Given the description of an element on the screen output the (x, y) to click on. 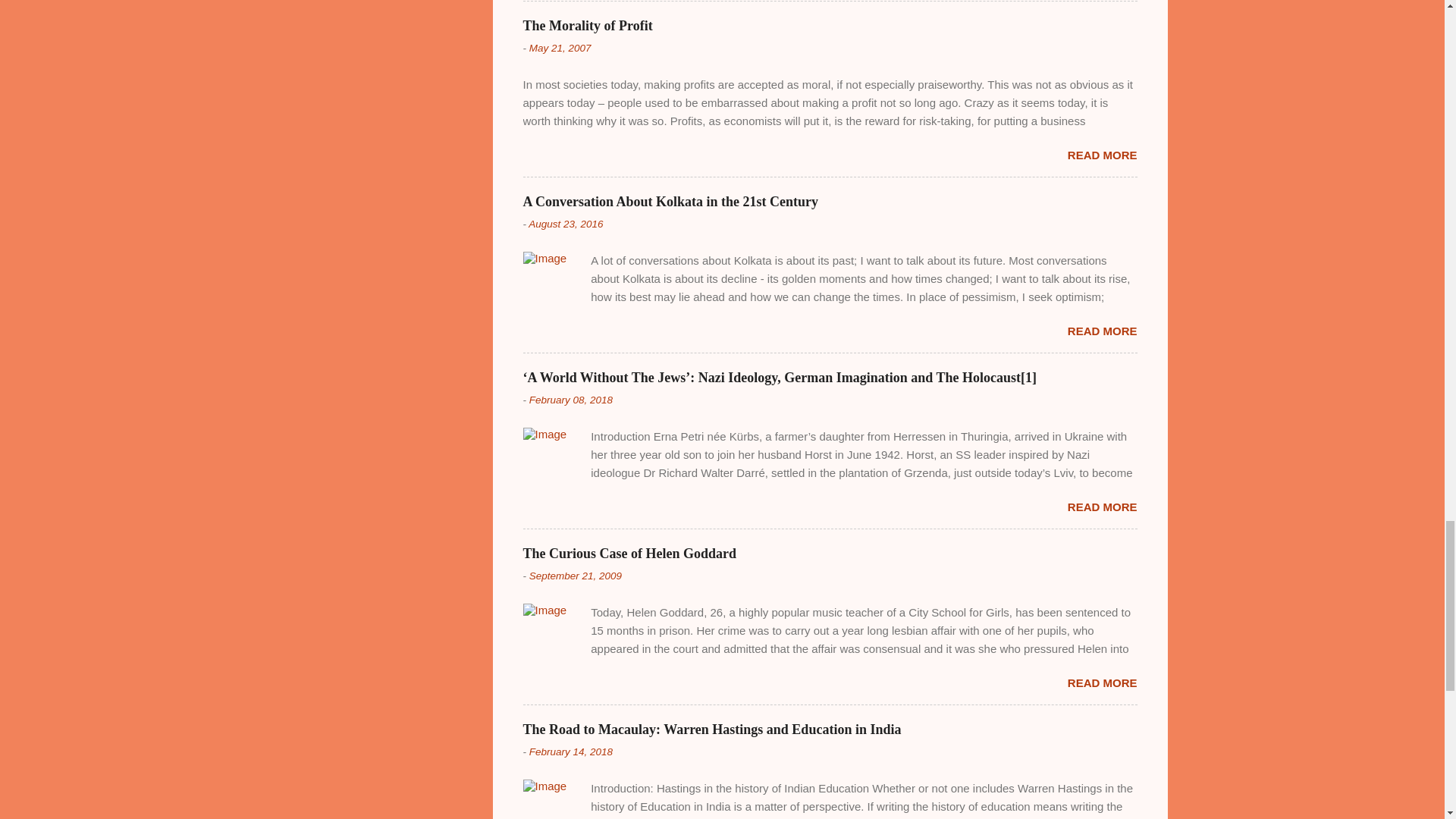
August 23, 2016 (565, 224)
READ MORE (1102, 154)
READ MORE (1102, 330)
The Morality of Profit (587, 25)
A Conversation About Kolkata in the 21st Century (670, 201)
May 21, 2007 (560, 48)
